Given the description of an element on the screen output the (x, y) to click on. 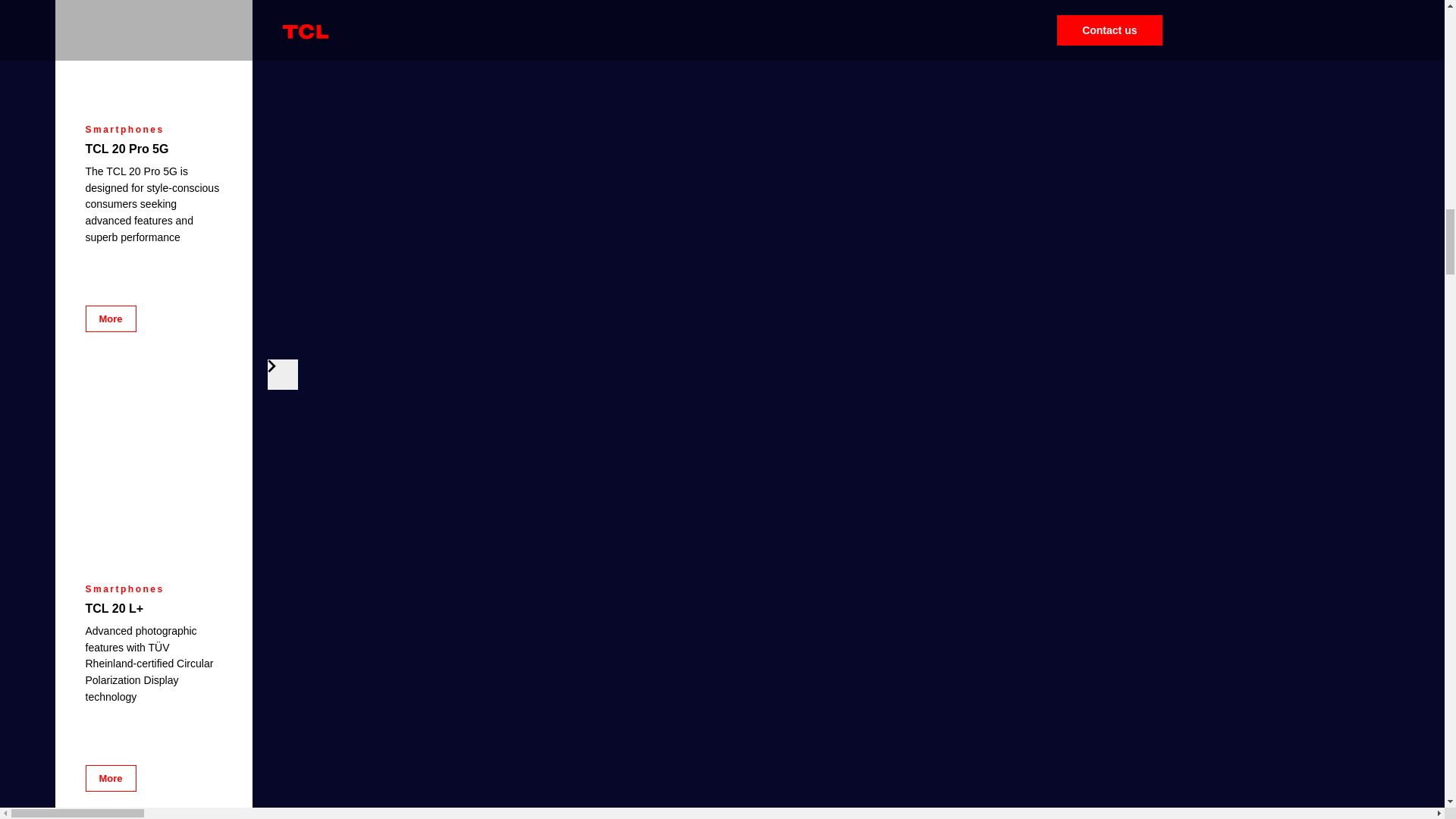
More (109, 318)
More (109, 777)
